Given the description of an element on the screen output the (x, y) to click on. 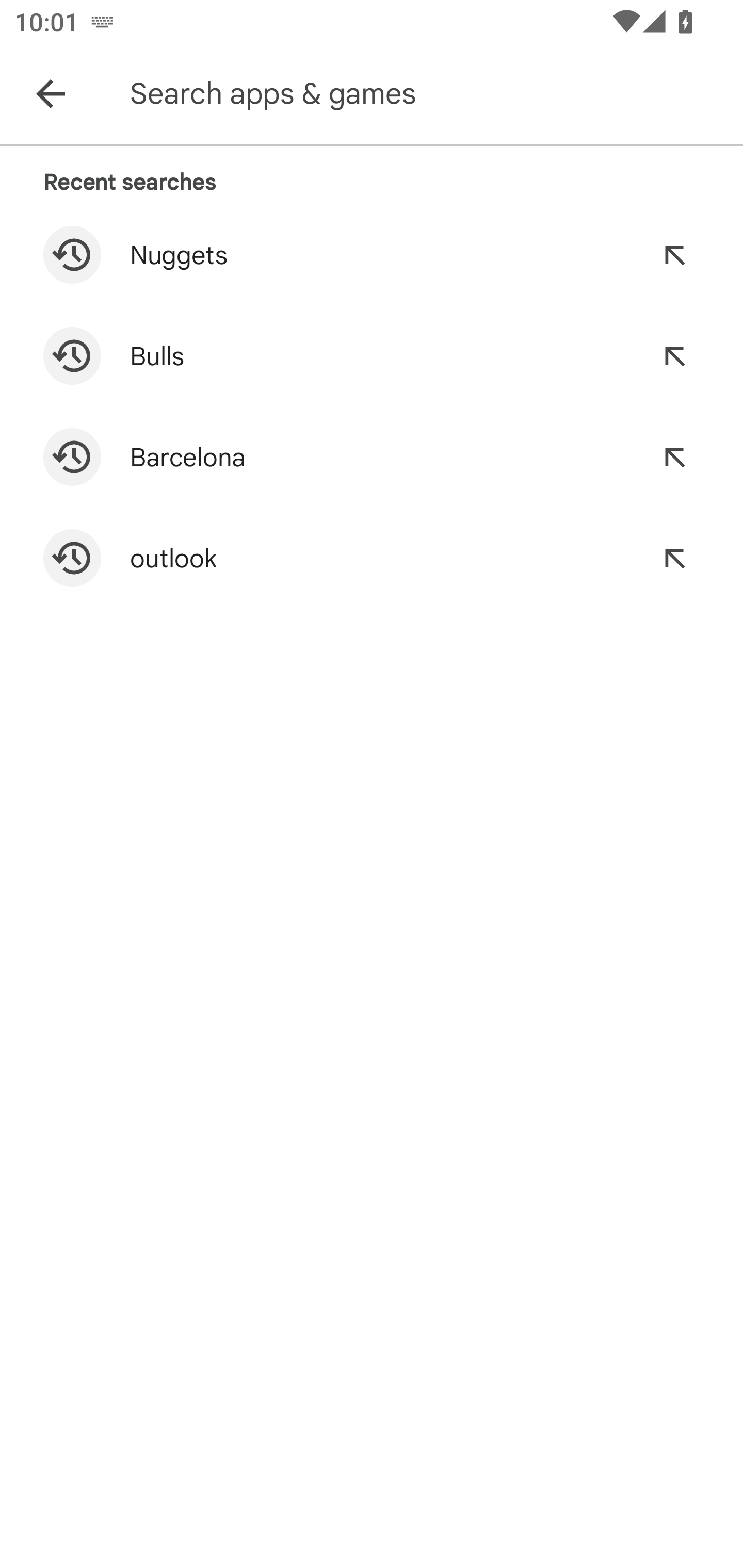
Navigate up (50, 93)
Search apps & games (432, 93)
Search for "Nuggets"  Refine search to "Nuggets" (371, 254)
Refine search to "Nuggets" (673, 254)
Search for "Bulls"  Refine search to "Bulls" (371, 355)
Refine search to "Bulls" (673, 355)
Refine search to "Barcelona" (673, 457)
Search for "outlook"  Refine search to "outlook" (371, 558)
Refine search to "outlook" (673, 558)
